Given the description of an element on the screen output the (x, y) to click on. 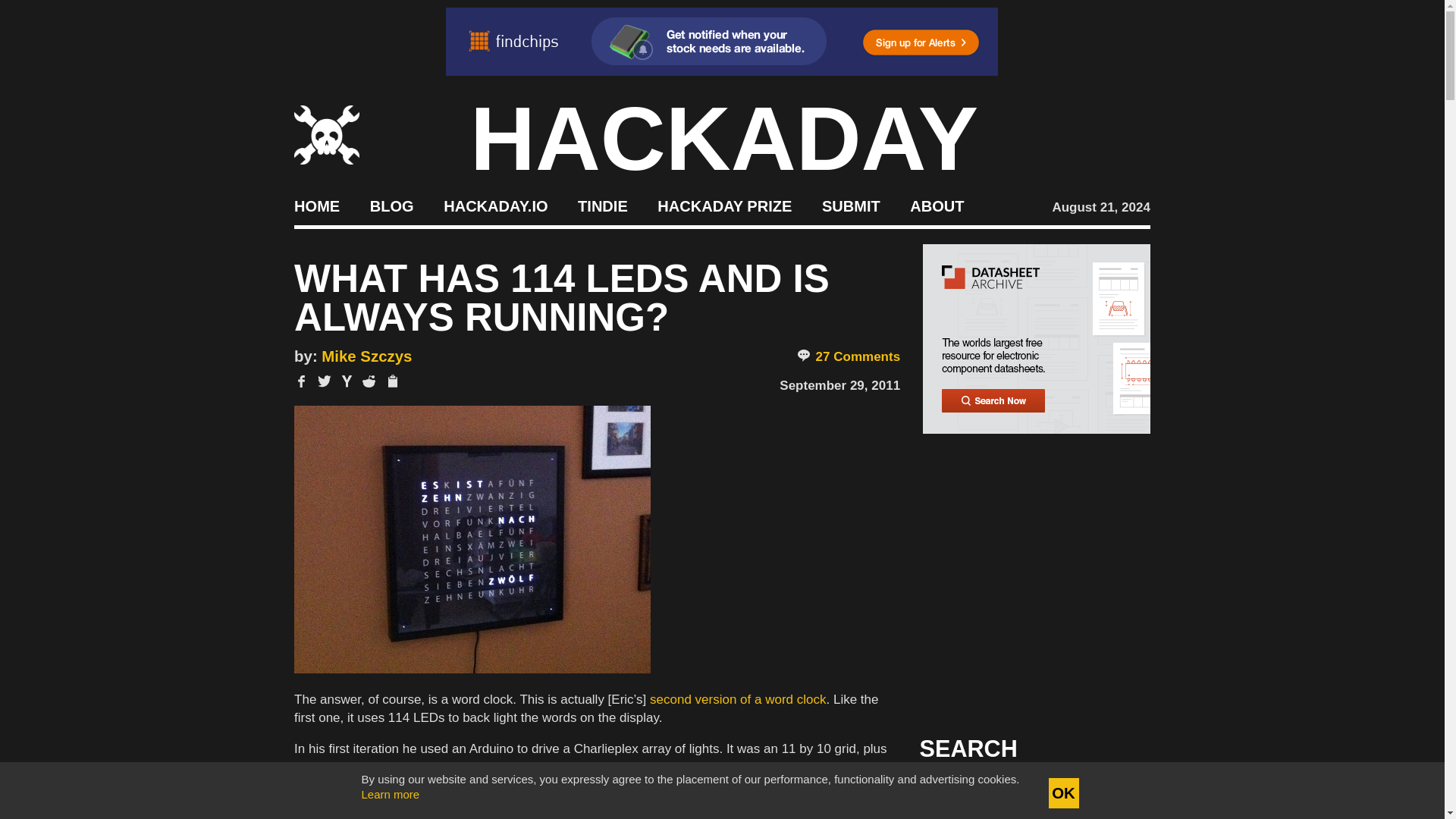
BLOG (391, 205)
TINDIE (602, 205)
September 29, 2011 - 1:01 pm (838, 385)
Search (1115, 792)
HOME (316, 205)
Share on Facebook (301, 381)
HACKADAY PRIZE (725, 205)
SUBMIT (851, 205)
Copy title or shortlink (391, 381)
Share on Twitter (324, 381)
